Given the description of an element on the screen output the (x, y) to click on. 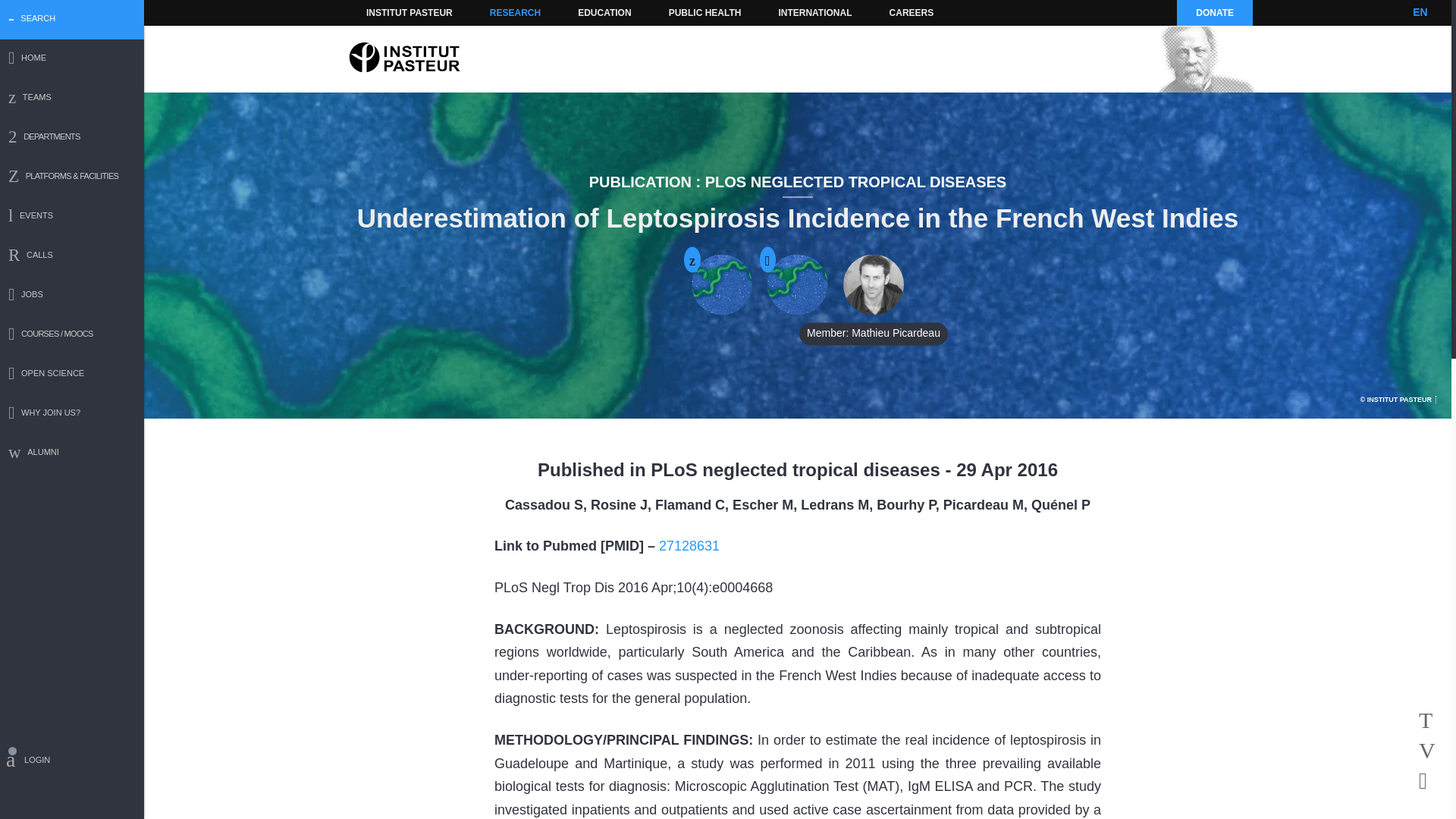
Skip to content (387, 11)
Skip to content (387, 11)
EVENTS (72, 217)
DONATE (1214, 12)
WHY JOIN US? (72, 413)
CAREERS (911, 12)
ALUMNI (72, 454)
LOGIN (72, 762)
27128631 (689, 545)
DEPARTMENTS (72, 137)
